Given the description of an element on the screen output the (x, y) to click on. 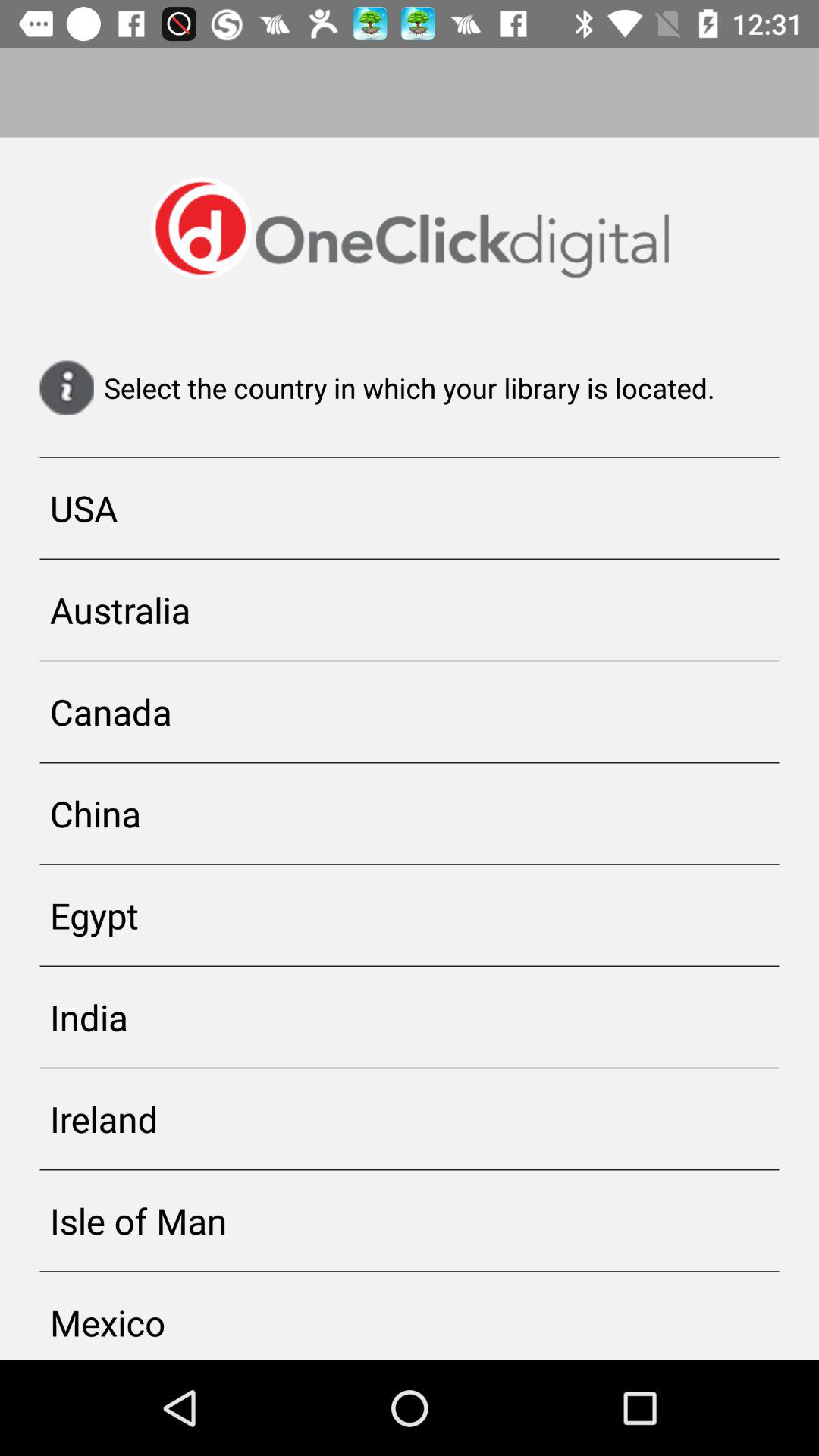
launch icon above canada (409, 609)
